Given the description of an element on the screen output the (x, y) to click on. 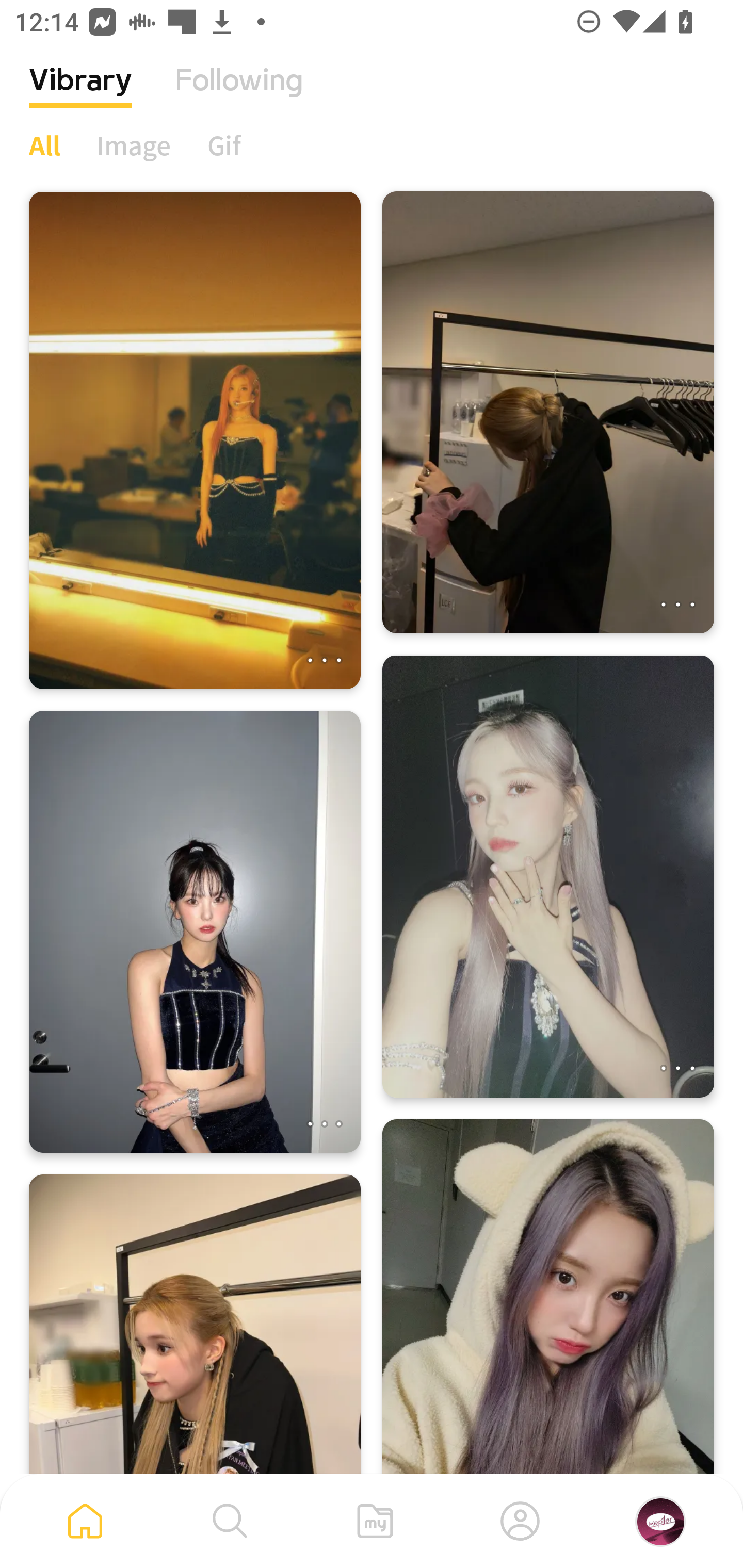
Vibrary (80, 95)
Following (239, 95)
All (44, 145)
Image (133, 145)
Gif (223, 145)
